Given the description of an element on the screen output the (x, y) to click on. 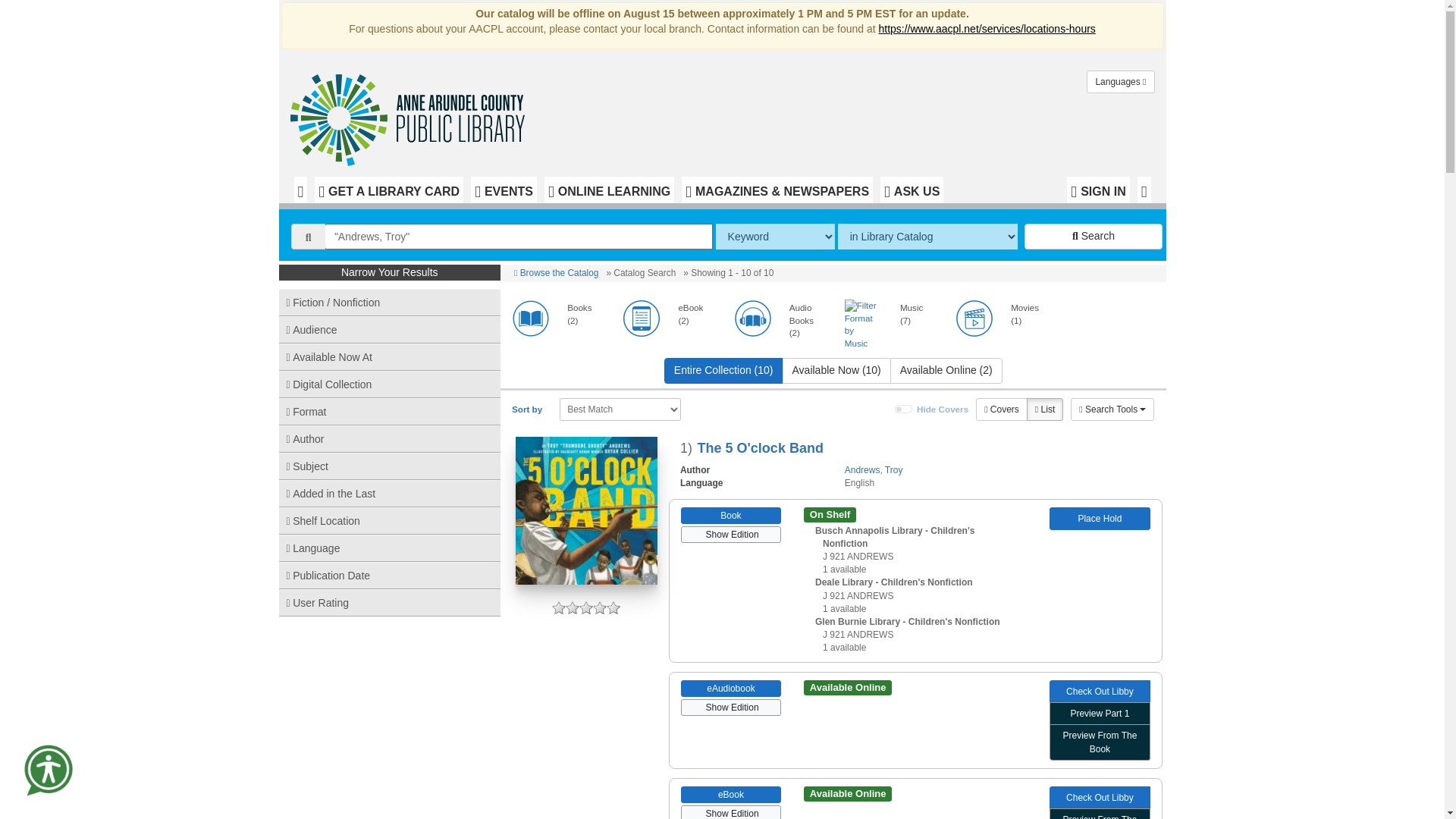
The method of searching. (775, 236)
SIGN IN (1098, 189)
Library Home Page (410, 116)
Languages  (1120, 81)
ASK US (911, 189)
EVENTS (503, 189)
GET A LIBRARY CARD (388, 189)
Login (1098, 189)
 Search (1093, 236)
